Given the description of an element on the screen output the (x, y) to click on. 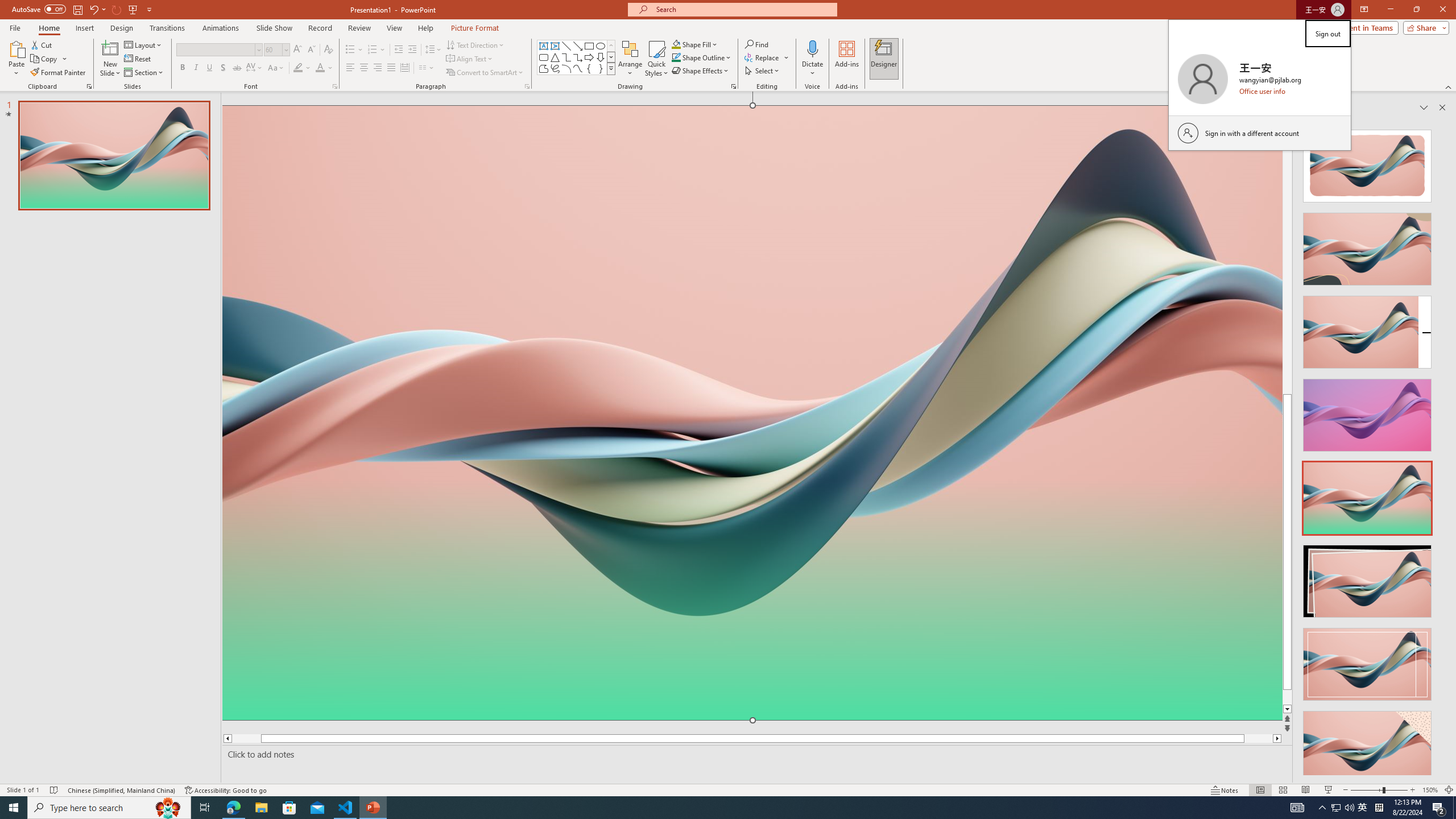
Zoom 150% (1430, 790)
